Given the description of an element on the screen output the (x, y) to click on. 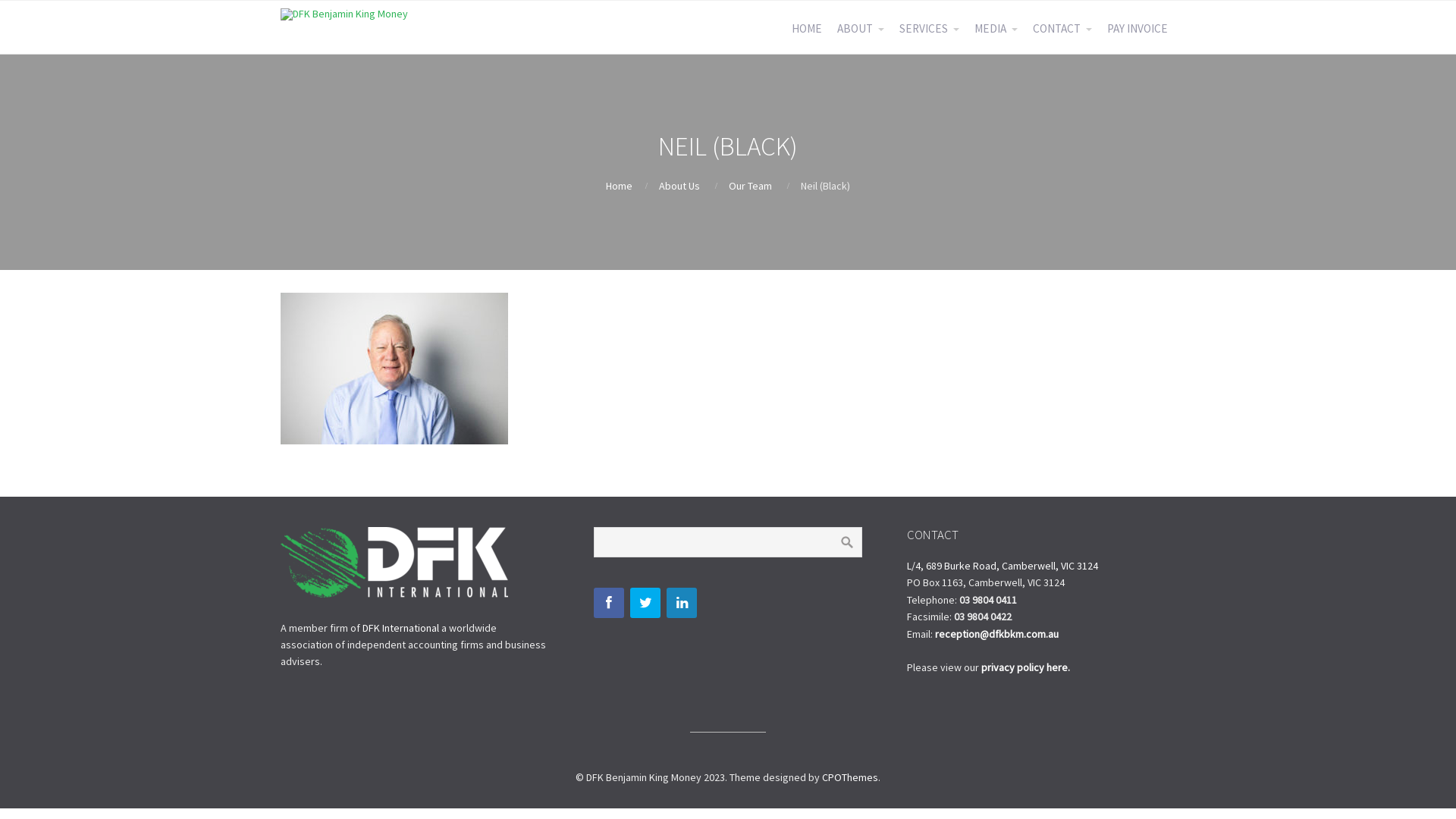
L/4, 689 Burke Road, Camberwell, VIC 3124 Element type: text (1002, 565)
MEDIA Element type: text (995, 29)
HOME Element type: text (806, 29)
LinkedIn Element type: hover (681, 602)
privacy policy here Element type: text (1024, 667)
About Us Element type: text (678, 185)
Twitter Element type: hover (645, 602)
reception@dfkbkm.com.au Element type: text (996, 633)
DFK International Element type: text (400, 627)
ABOUT Element type: text (860, 29)
Our Team Element type: text (749, 185)
CONTACT Element type: text (1062, 29)
Home Element type: text (618, 185)
Search Element type: text (846, 542)
PAY INVOICE Element type: text (1137, 29)
SERVICES Element type: text (928, 29)
Facebook Element type: hover (608, 602)
CPOThemes Element type: text (850, 777)
